Given the description of an element on the screen output the (x, y) to click on. 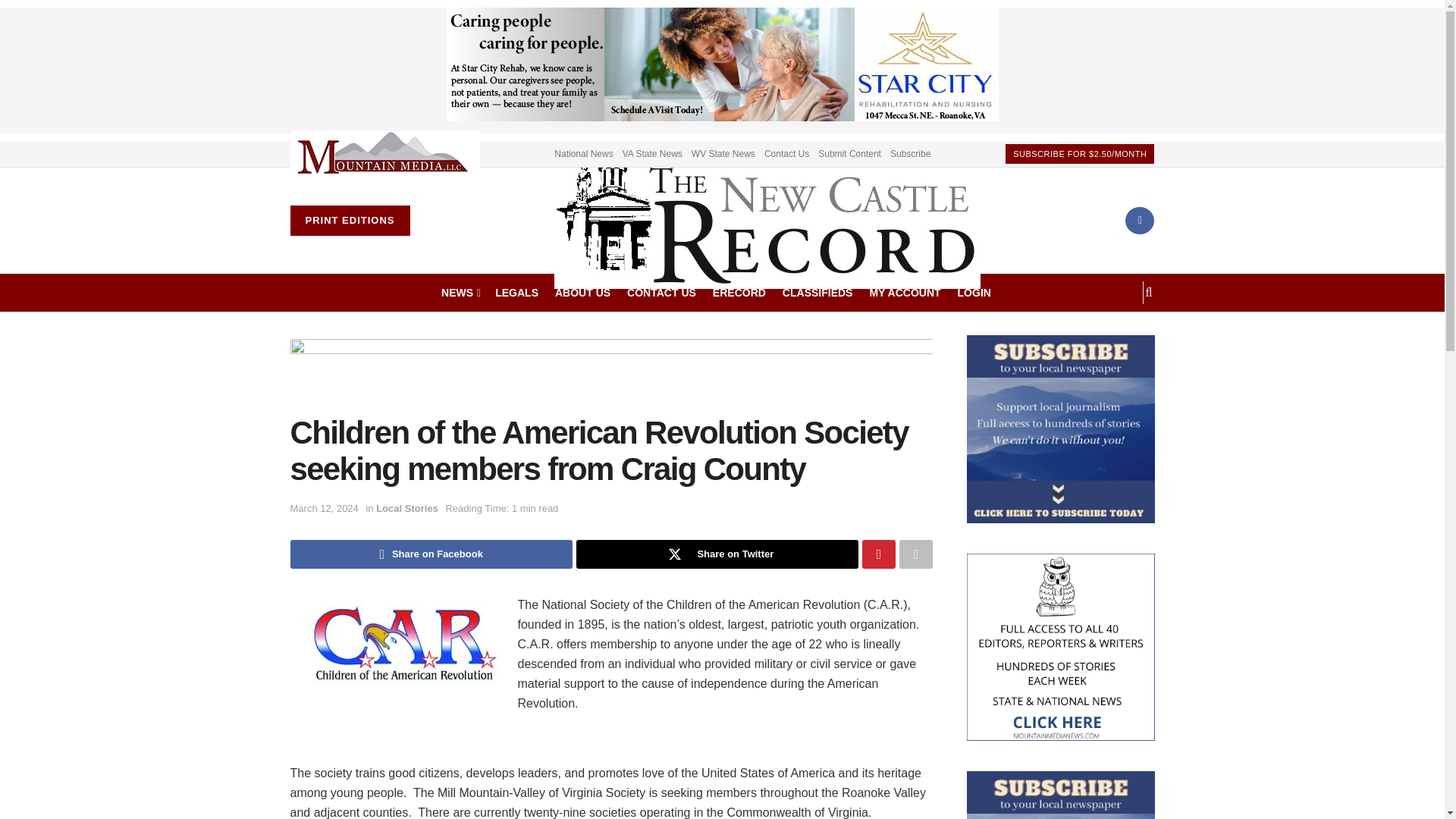
LOGIN (974, 292)
CLASSIFIEDS (818, 292)
ABOUT US (582, 292)
LEGALS (516, 292)
CONTACT US (661, 292)
Submit Content (849, 153)
Contact Us (786, 153)
MY ACCOUNT (904, 292)
NEWS (460, 292)
ERECORD (739, 292)
VA State News (652, 153)
National News (583, 153)
WV State News (723, 153)
PRINT EDITIONS (349, 220)
Subscribe (909, 153)
